Given the description of an element on the screen output the (x, y) to click on. 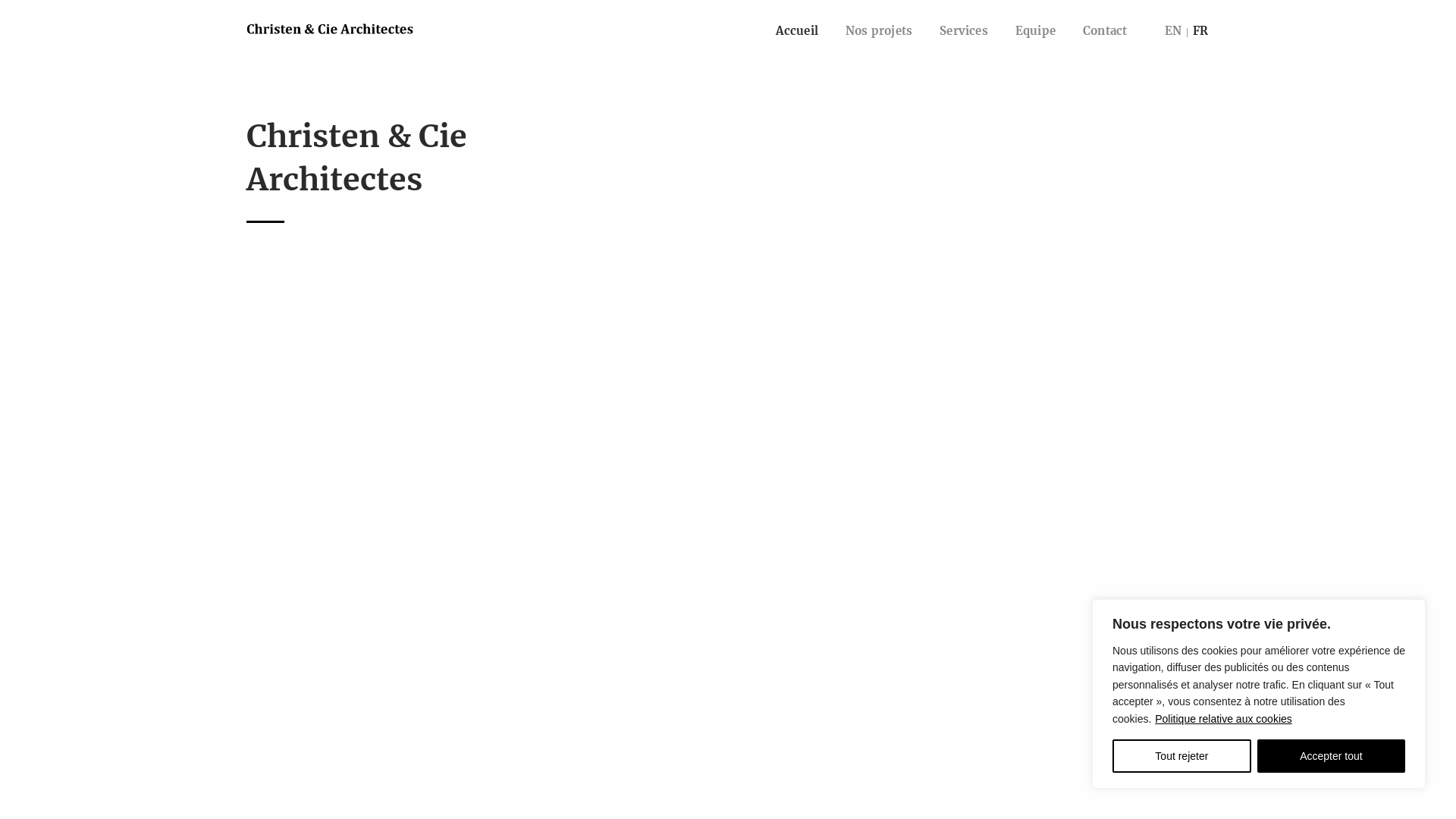
Tout rejeter Element type: text (1181, 755)
Nos projets Element type: text (878, 30)
Equipe Element type: text (1035, 30)
Services Element type: text (963, 30)
Accepter tout Element type: text (1331, 755)
Contact Element type: text (1104, 30)
Accueil Element type: text (796, 30)
Politique relative aux cookies Element type: text (1223, 718)
